Given the description of an element on the screen output the (x, y) to click on. 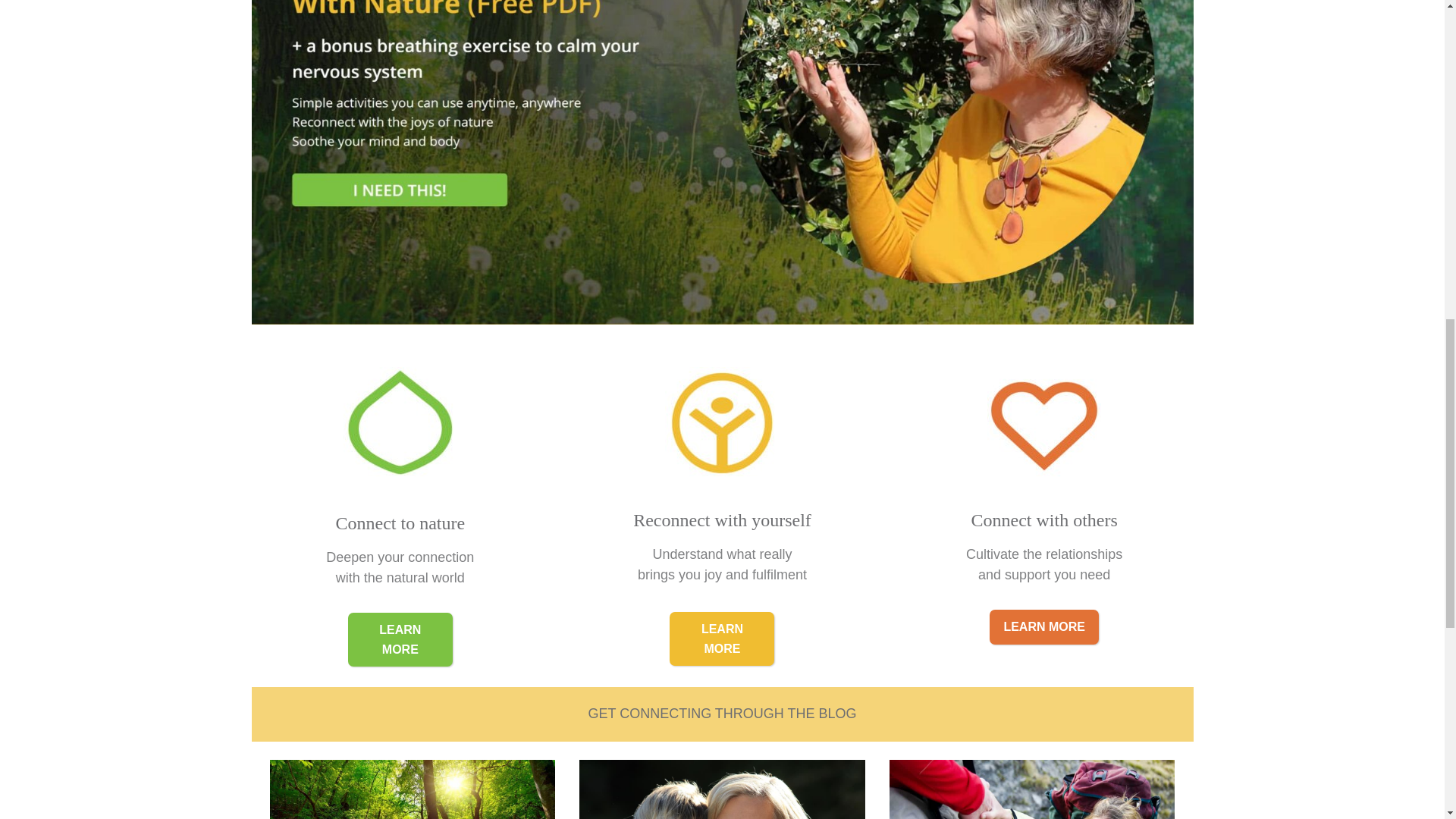
LEARN MORE (721, 638)
LEARN MORE (399, 639)
LEARN MORE (1044, 626)
